Given the description of an element on the screen output the (x, y) to click on. 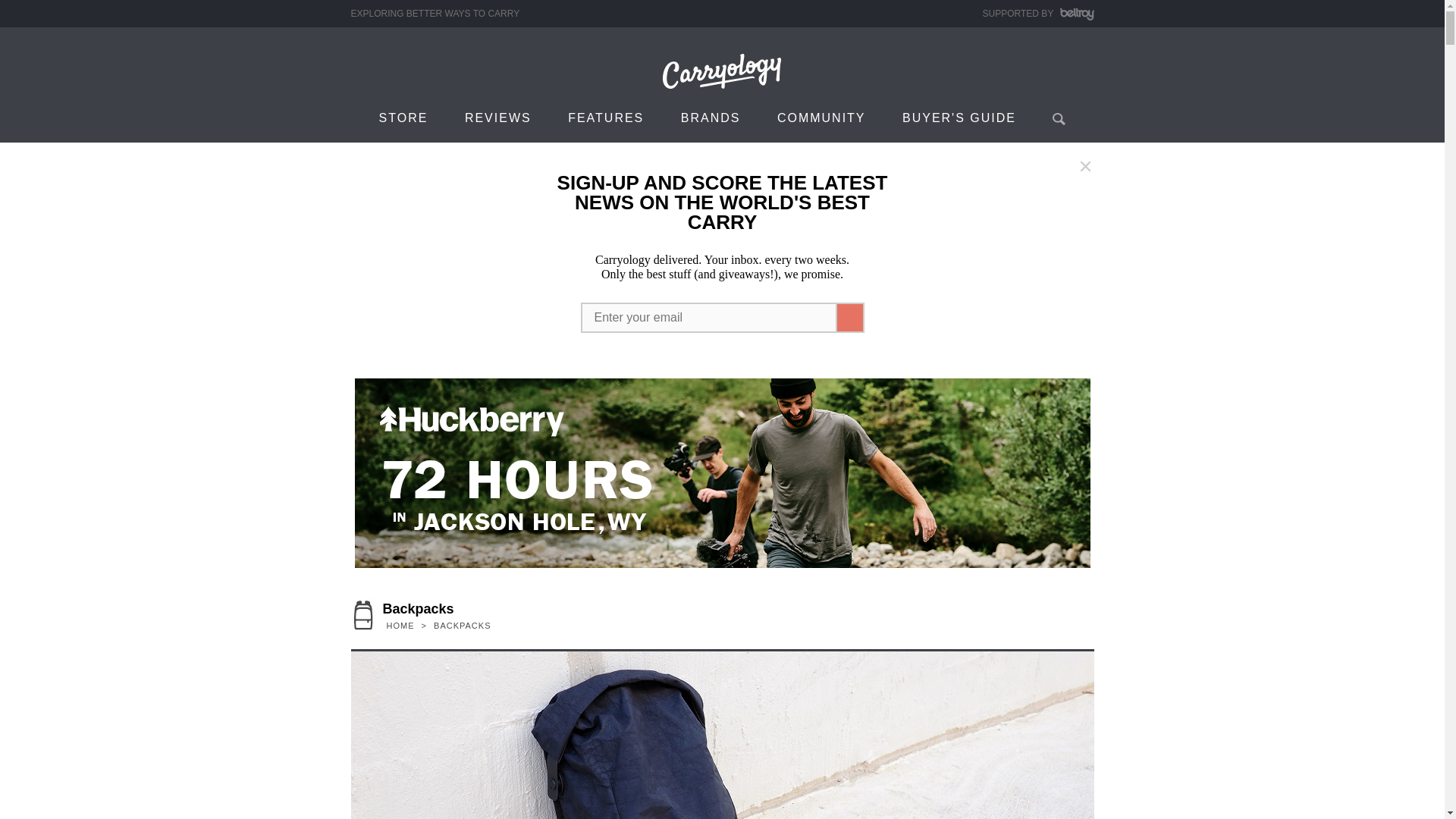
BRANDS (710, 117)
STORE (403, 117)
BUYER'S GUIDE (959, 117)
REVIEWS (498, 117)
COMMUNITY (821, 117)
FEATURES (605, 117)
Go to Carryology. (399, 624)
